Given the description of an element on the screen output the (x, y) to click on. 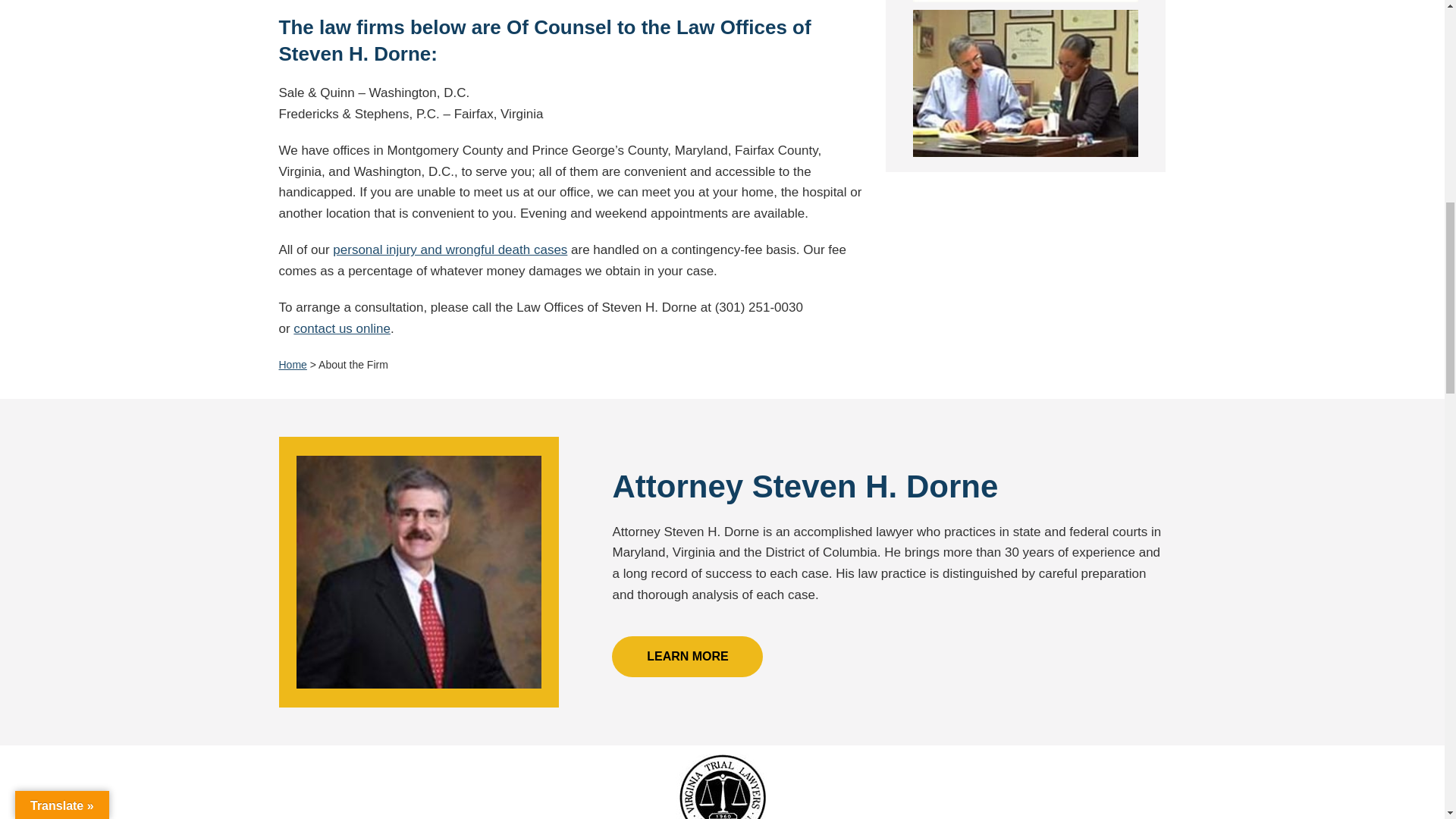
contact us online (342, 328)
personal injury and wrongful death cases (450, 249)
Home (293, 364)
LEARN MORE (686, 656)
Go to Law Offices of Steven H. Dorne. (293, 364)
